Given the description of an element on the screen output the (x, y) to click on. 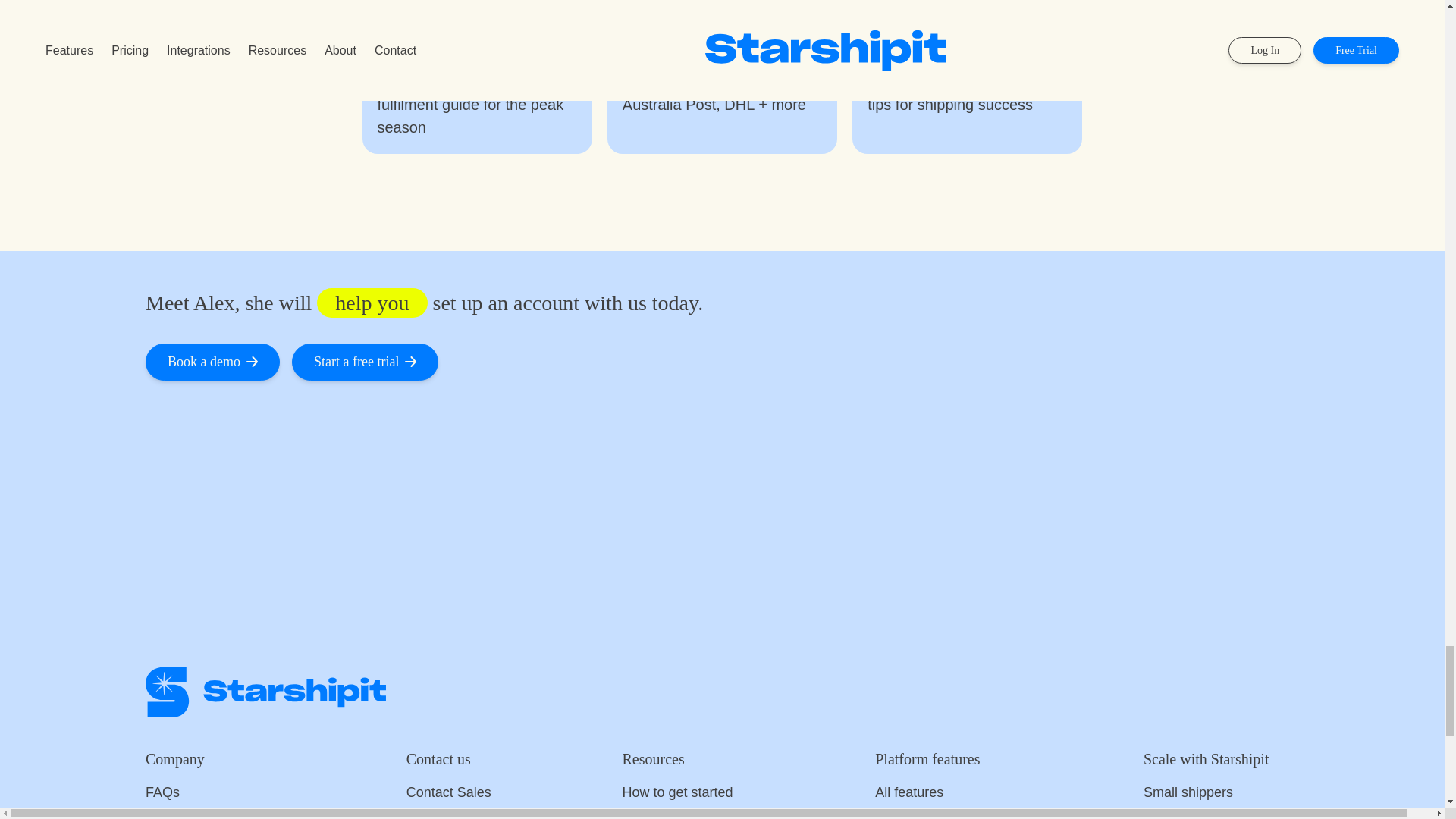
FAQs (221, 792)
Shipping experience blog (221, 811)
Ultimate shipping and fulfilment guide for the peak season (476, 104)
Book a demo (212, 361)
Countdown to peak: 6 quick tips for shipping success (967, 93)
Start a free trial (365, 361)
Contact Sales (460, 792)
Contact Support (460, 811)
